Given the description of an element on the screen output the (x, y) to click on. 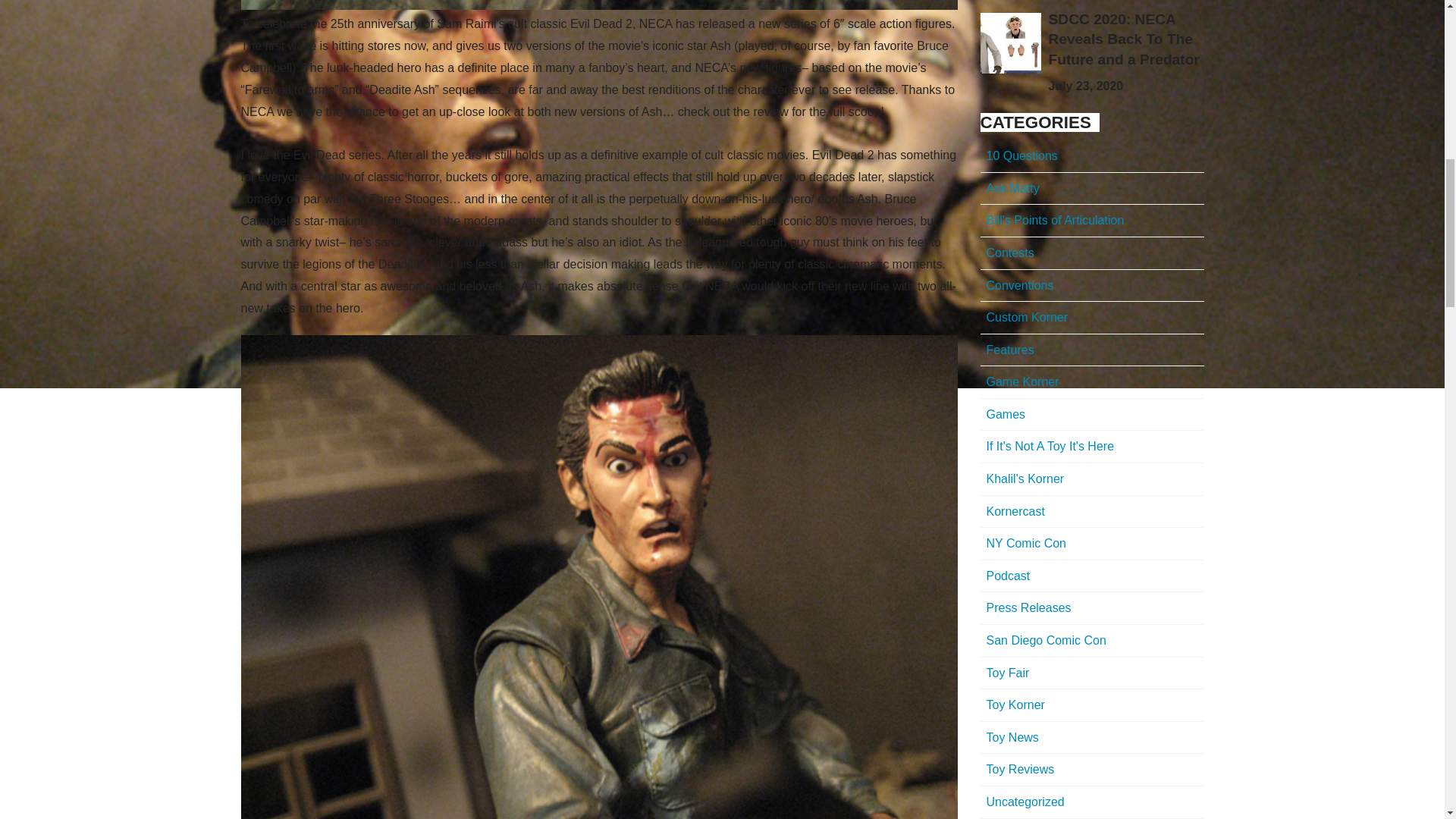
Conventions (1091, 286)
Contests (1091, 253)
Bill's Points of Articulation (1091, 220)
Custom Korner (1091, 318)
Ask Matty (1091, 188)
10 Questions (1091, 156)
Evil Dead: Farewell to Arms Ash (599, 5)
